Given the description of an element on the screen output the (x, y) to click on. 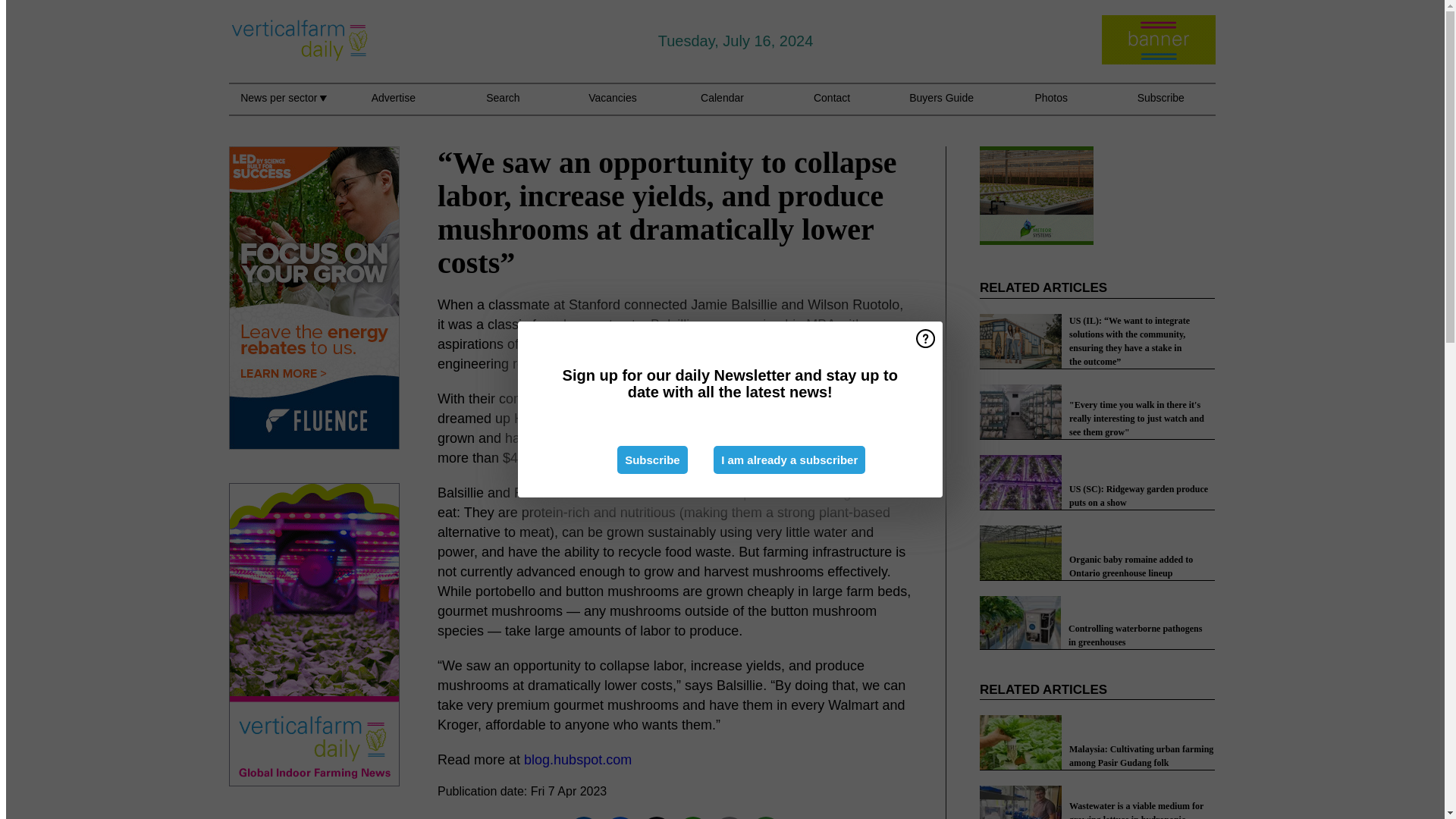
WhatsApp (693, 816)
Advertise (392, 106)
News per sector (283, 106)
Facebook (620, 816)
Search (502, 106)
LinkedIn (584, 816)
More Options (766, 816)
Subscribe (652, 459)
Email This (729, 816)
I am already a subscriber (788, 459)
